Given the description of an element on the screen output the (x, y) to click on. 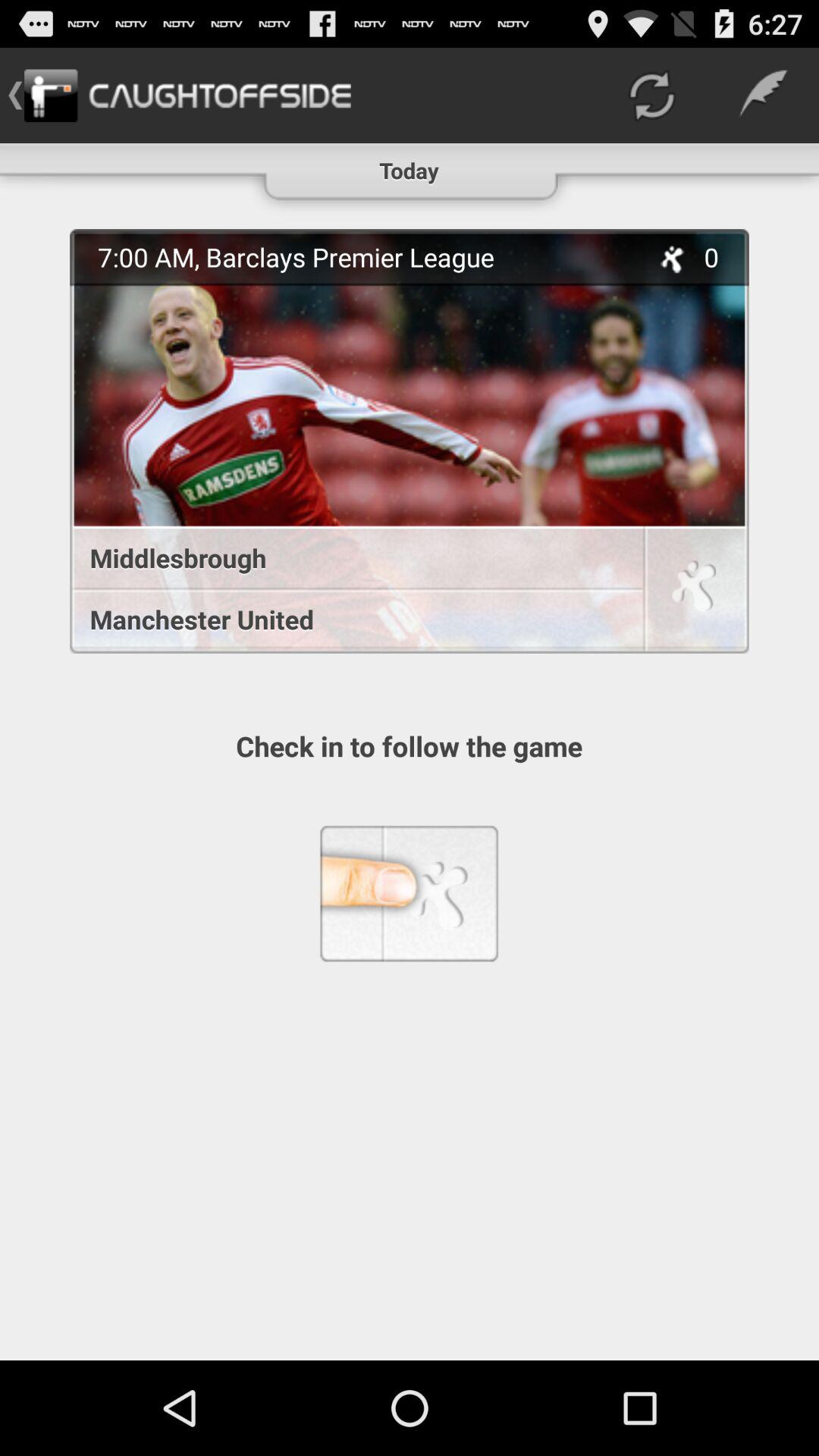
swipe until manchester united item (348, 619)
